Given the description of an element on the screen output the (x, y) to click on. 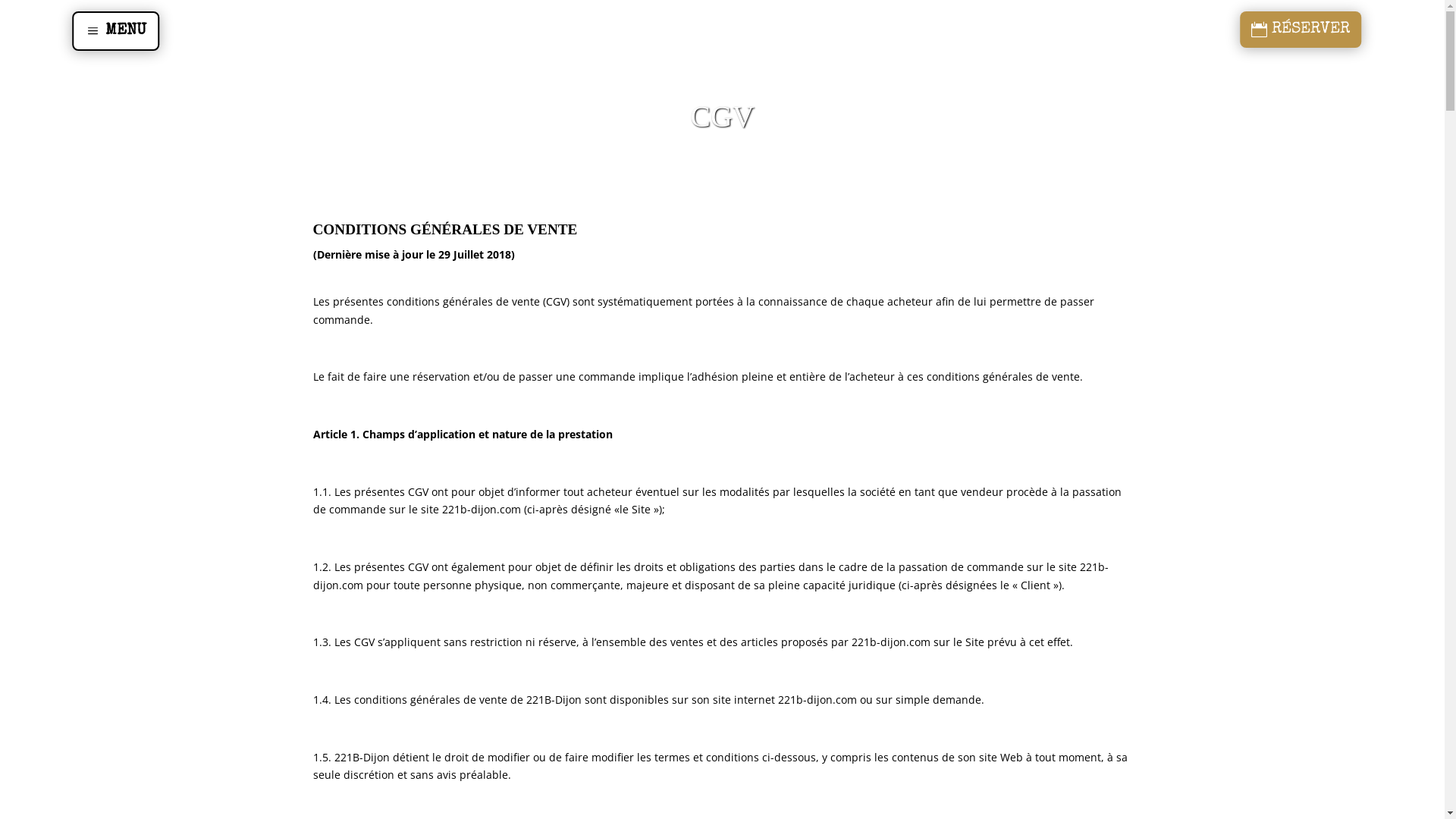
MENU Element type: text (115, 30)
